Given the description of an element on the screen output the (x, y) to click on. 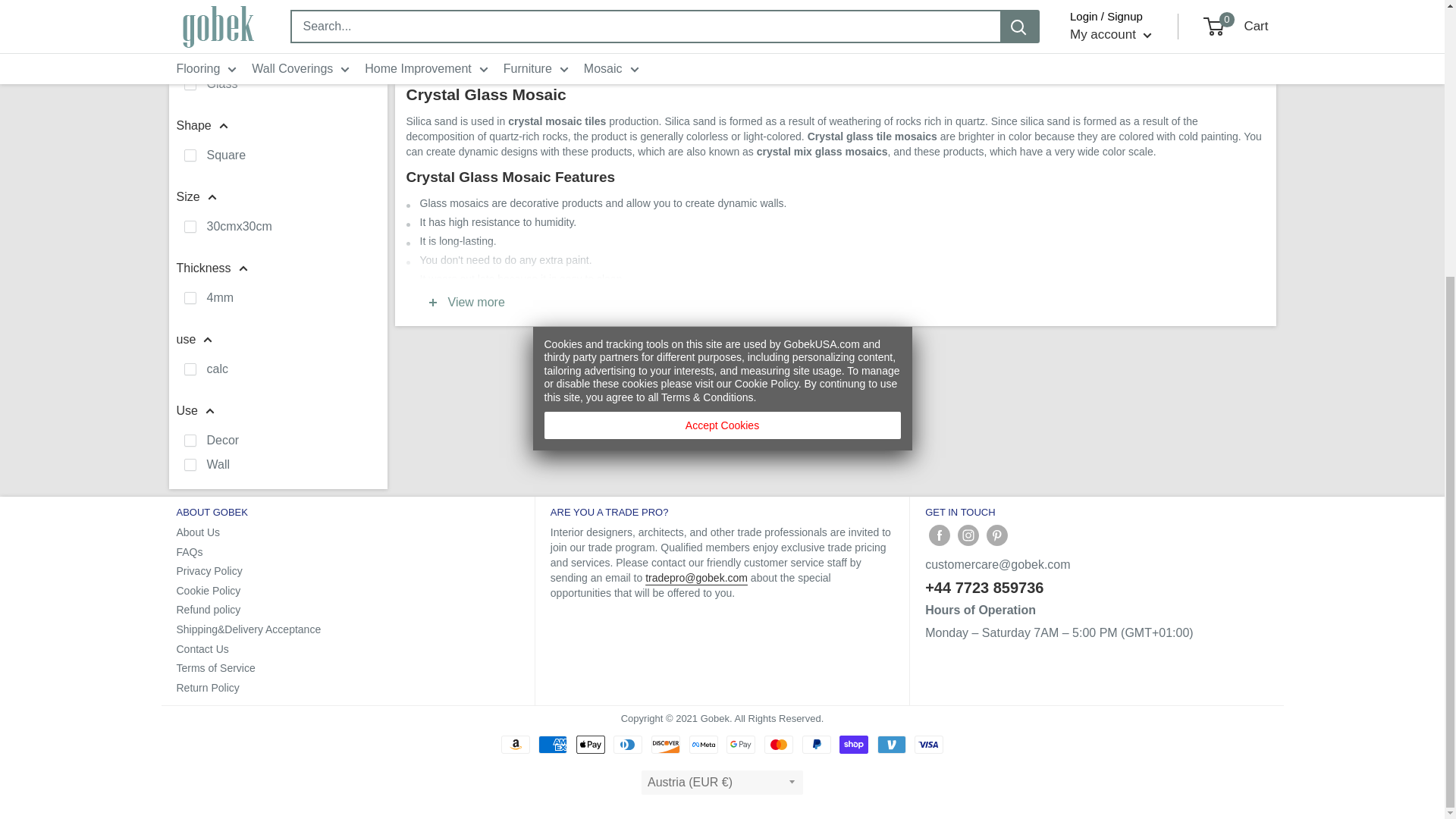
on (189, 83)
on (189, 297)
on (189, 12)
on (189, 155)
on (189, 440)
on (189, 369)
on (189, 226)
on (189, 464)
